Given the description of an element on the screen output the (x, y) to click on. 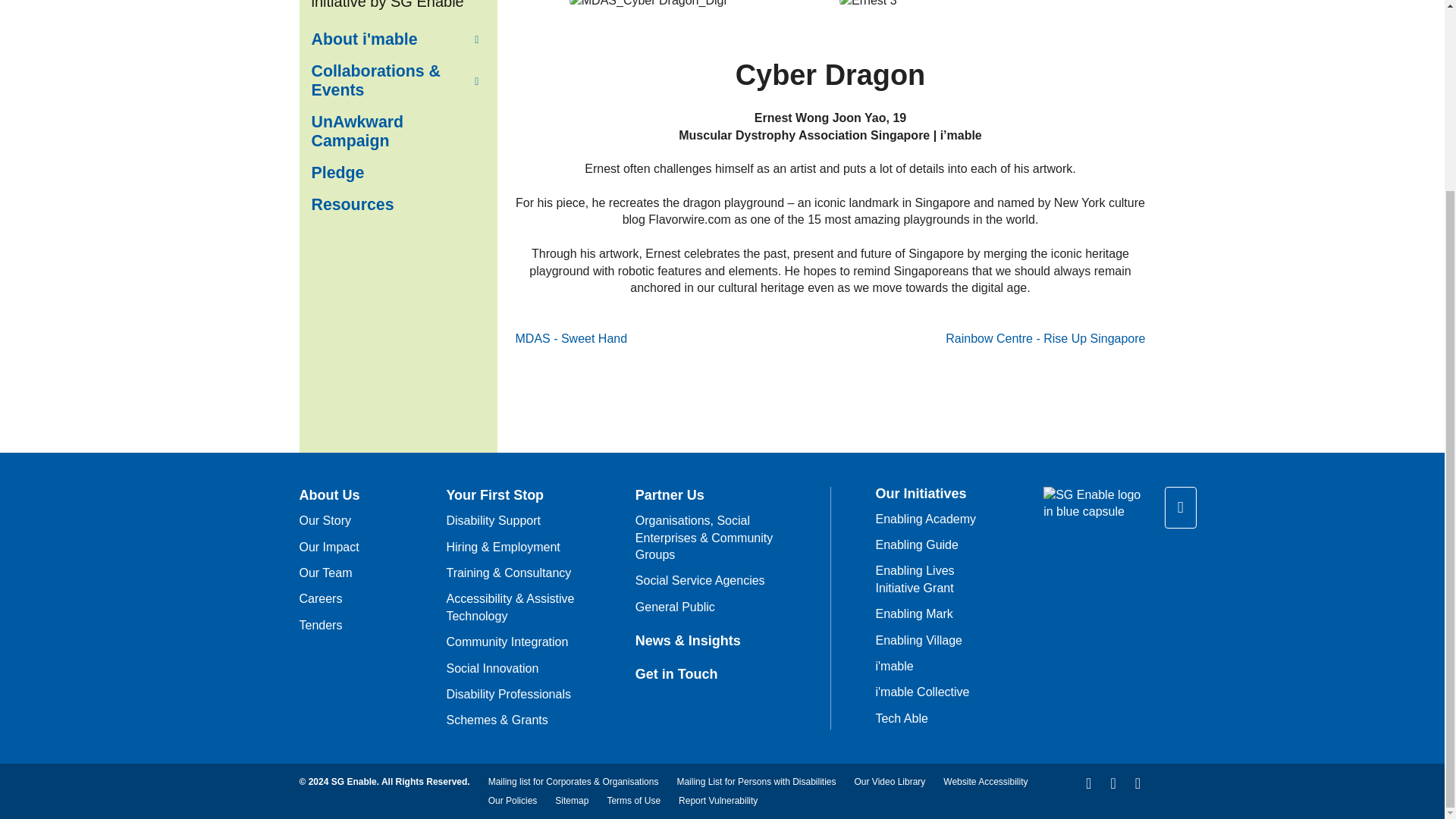
SG Enable Linkedin Page (1113, 783)
SGE Logo blue lozenge 2 RGB (1093, 503)
Ernest 3 (868, 4)
SG Enable Facebook Page (1088, 783)
SG Enable Vimeo Channel (1136, 783)
